Given the description of an element on the screen output the (x, y) to click on. 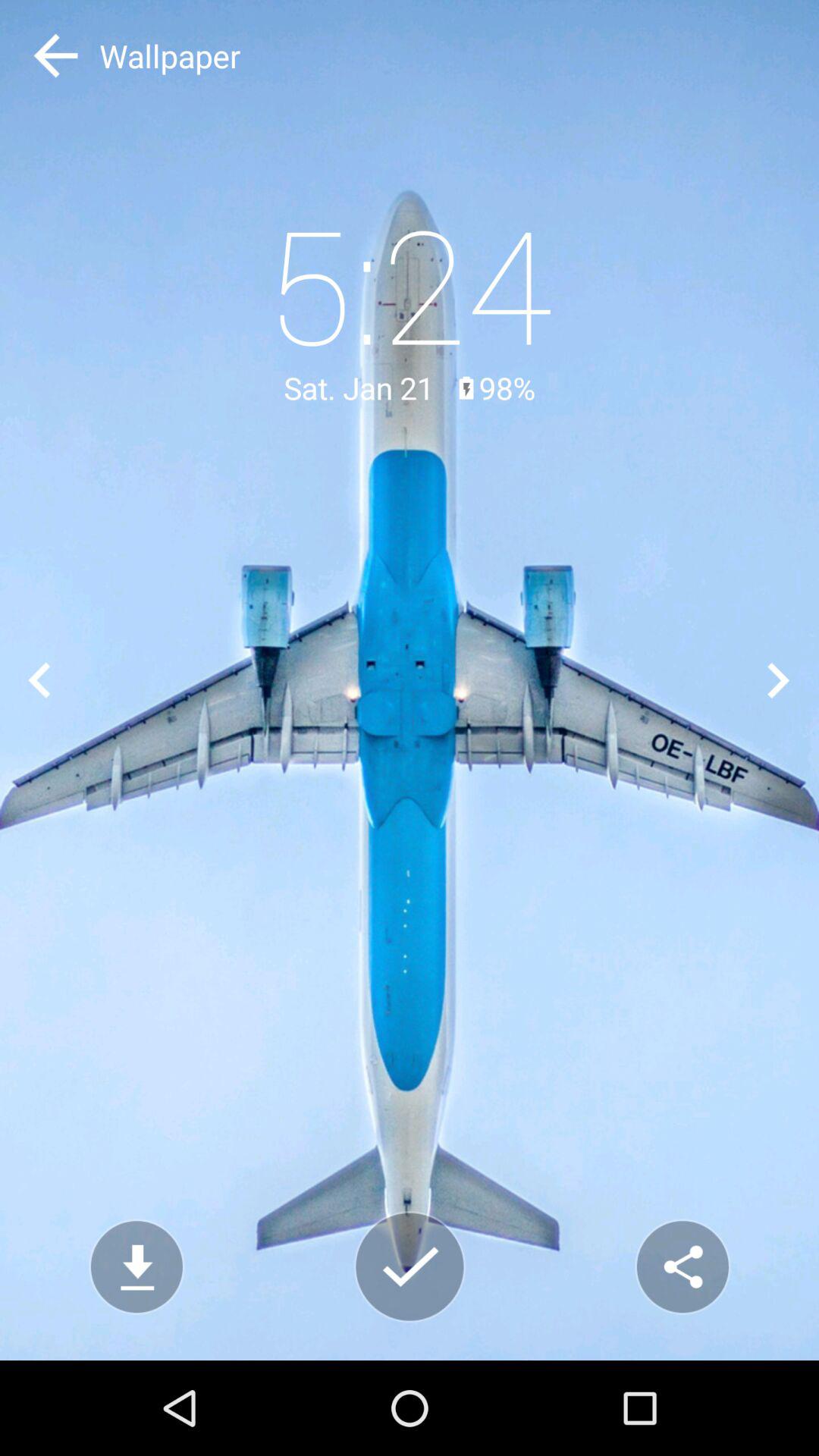
tap to share (682, 1266)
